Given the description of an element on the screen output the (x, y) to click on. 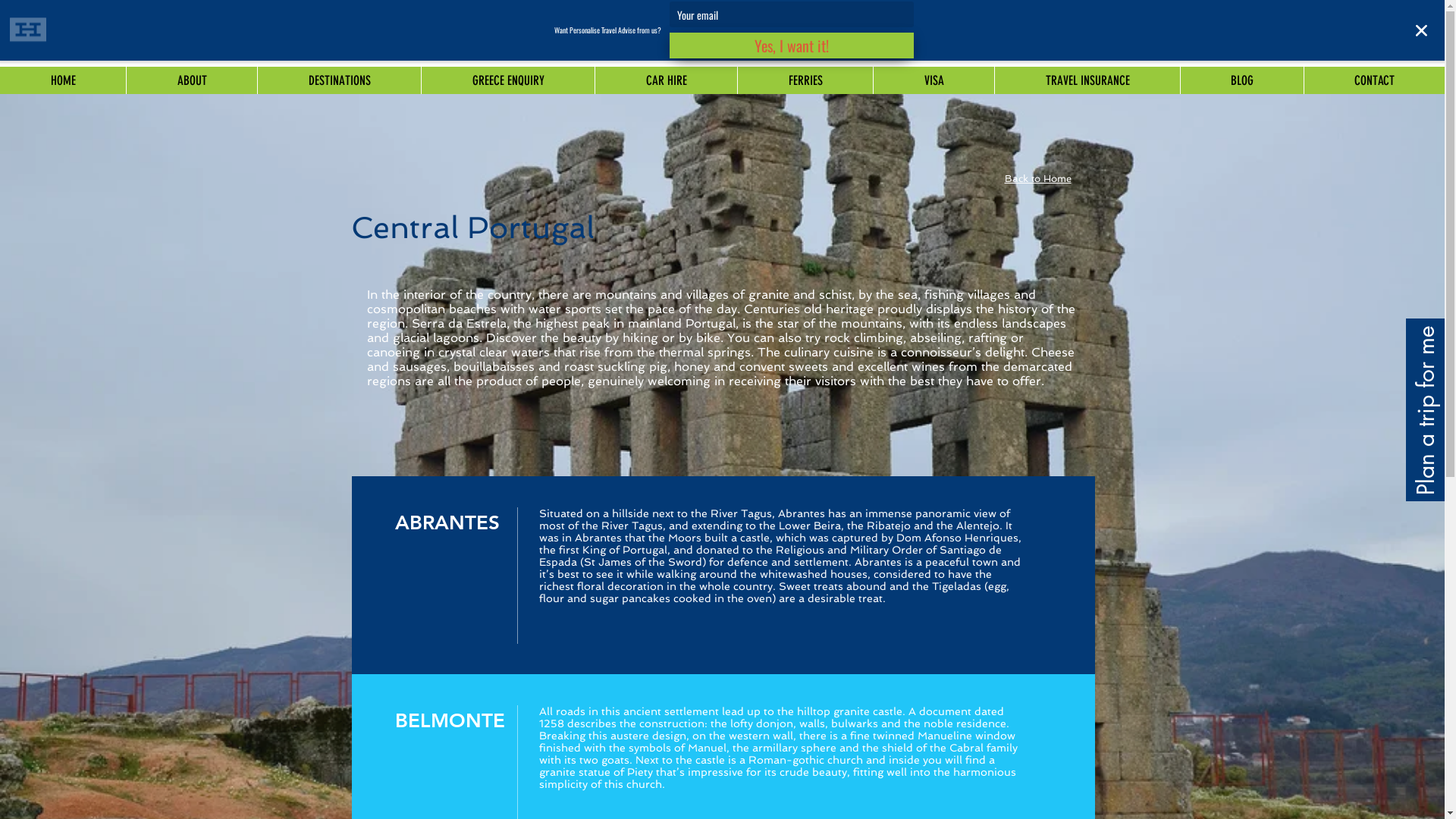
BLOG Element type: text (1241, 80)
CAR HIRE Element type: text (665, 80)
ABOUT Element type: text (191, 80)
Embedded Content Element type: hover (1383, 785)
Back to Home Element type: text (1037, 178)
DESTINATIONS Element type: text (338, 80)
HOME Element type: text (62, 80)
info@iconictravel.com.au Element type: text (1008, 49)
TRAVEL INSURANCE Element type: text (1086, 80)
GREECE ENQUIRY Element type: text (507, 80)
FERRIES Element type: text (804, 80)
VISA Element type: text (933, 80)
CONTACT Element type: text (1373, 80)
